Given the description of an element on the screen output the (x, y) to click on. 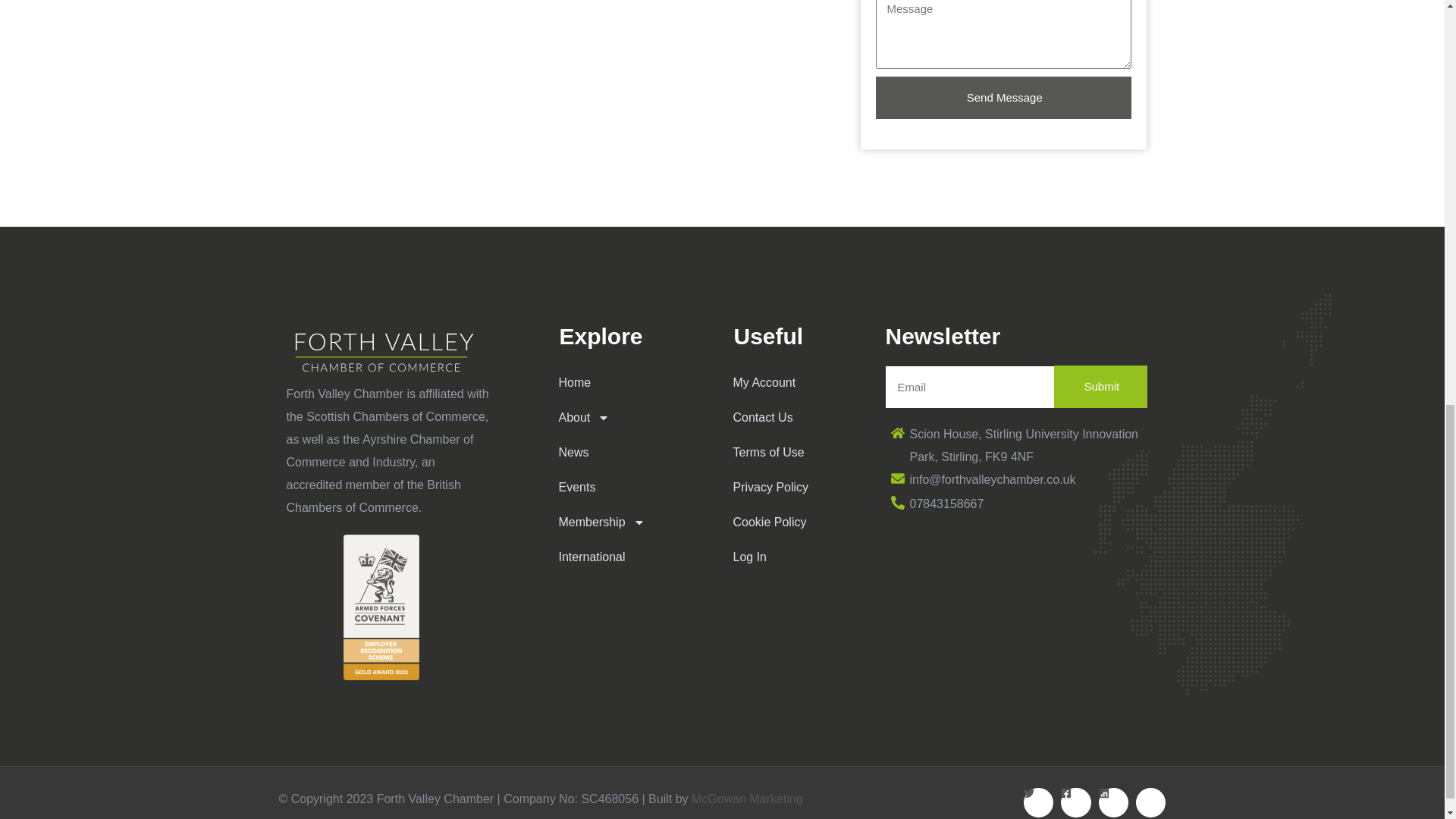
Events (626, 487)
About (626, 417)
Membership (626, 522)
Send Message (1003, 97)
News (626, 452)
Home (626, 382)
